Given the description of an element on the screen output the (x, y) to click on. 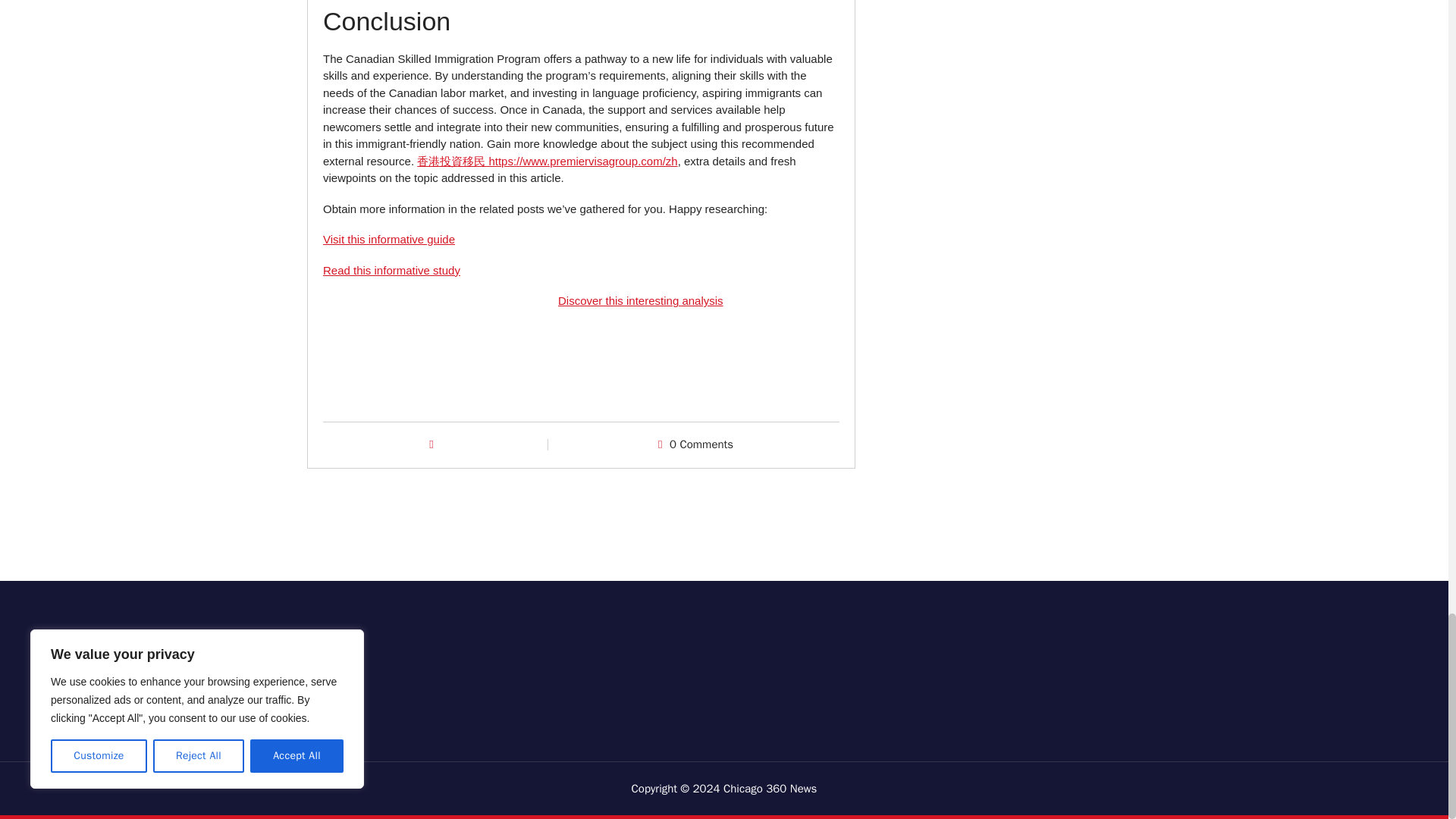
Discover this interesting analysis (640, 300)
Read this informative study (391, 269)
Visit this informative guide (388, 238)
